Given the description of an element on the screen output the (x, y) to click on. 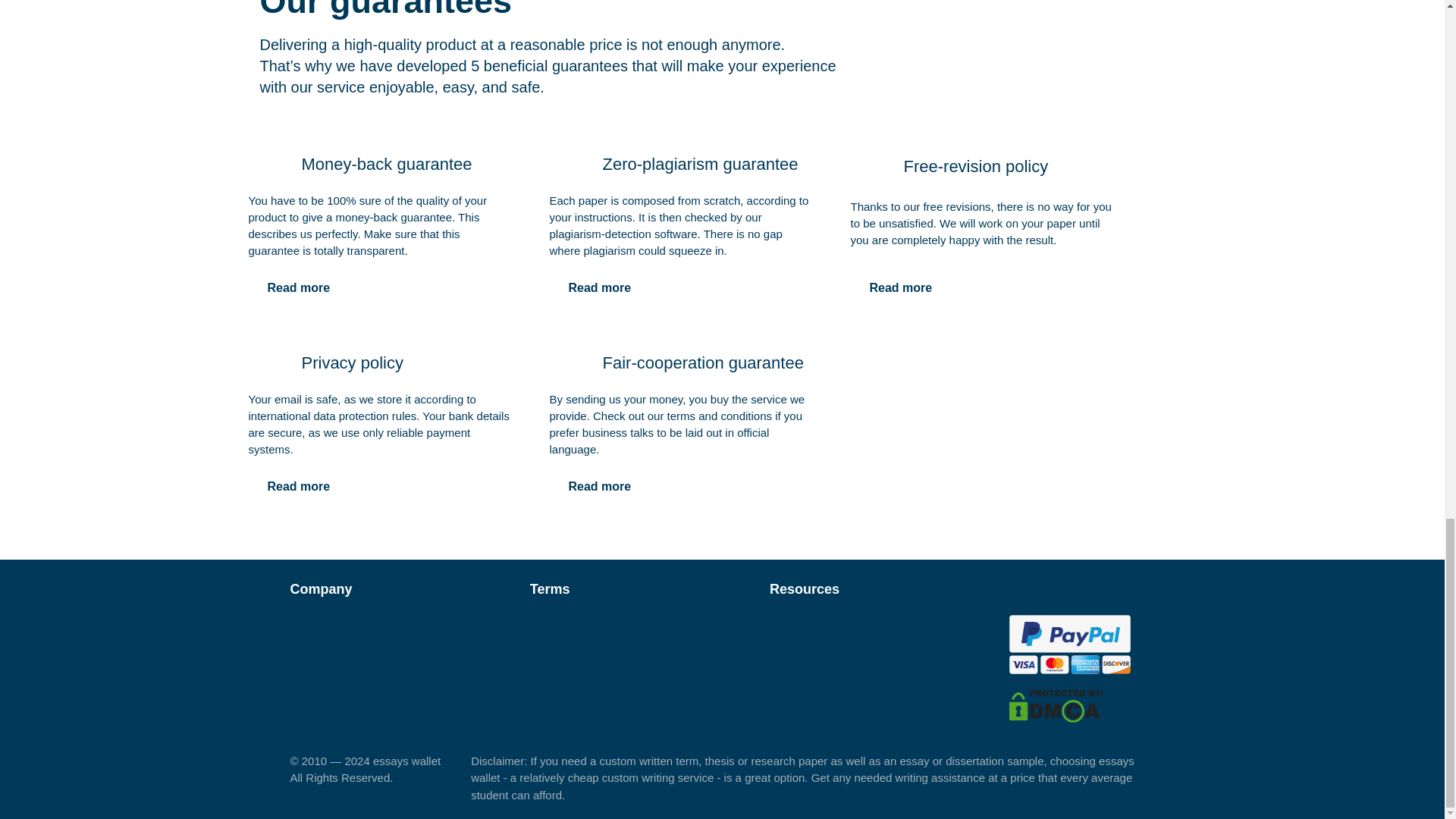
Read more (901, 287)
Read more (298, 287)
Read more (598, 486)
DMCA (1056, 704)
Read more (298, 486)
Read more (598, 287)
